Given the description of an element on the screen output the (x, y) to click on. 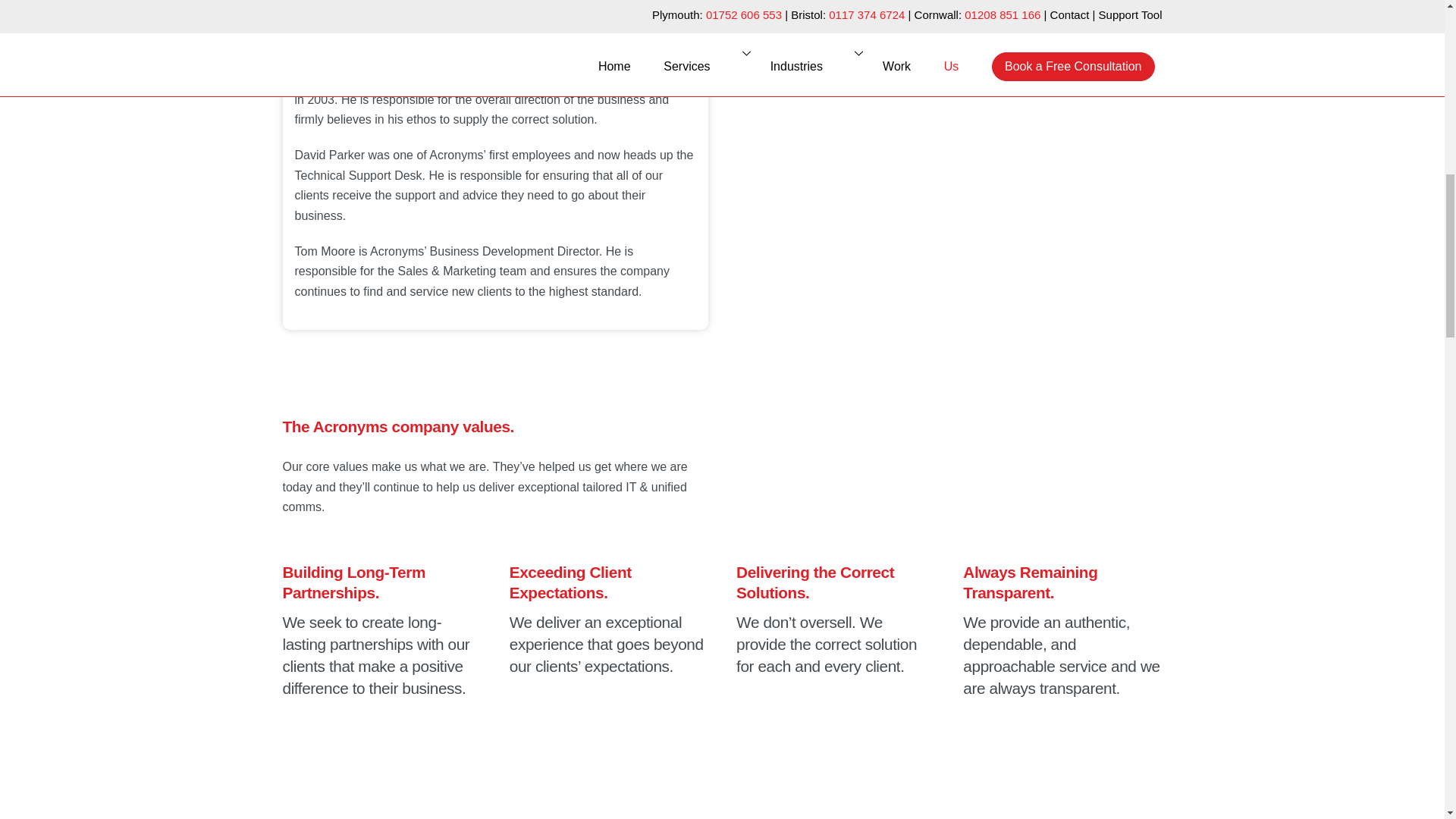
About (849, 145)
